Given the description of an element on the screen output the (x, y) to click on. 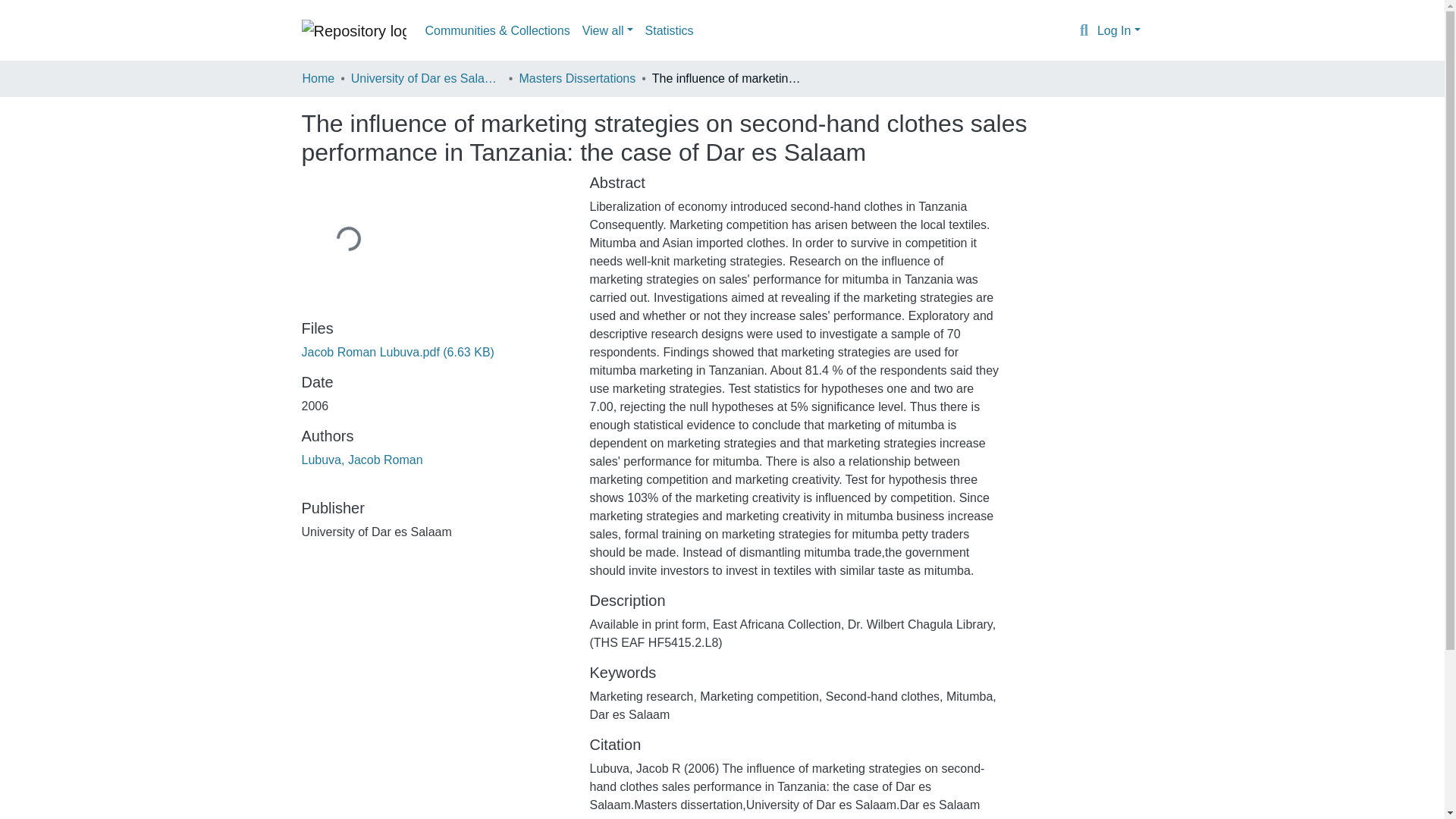
Statistics (669, 30)
Search (1084, 30)
Statistics (669, 30)
Masters Dissertations (576, 78)
Home (317, 78)
View all (607, 30)
Lubuva, Jacob Roman (362, 459)
Log In (1118, 30)
University of Dar es Salaam Business School (426, 78)
